Given the description of an element on the screen output the (x, y) to click on. 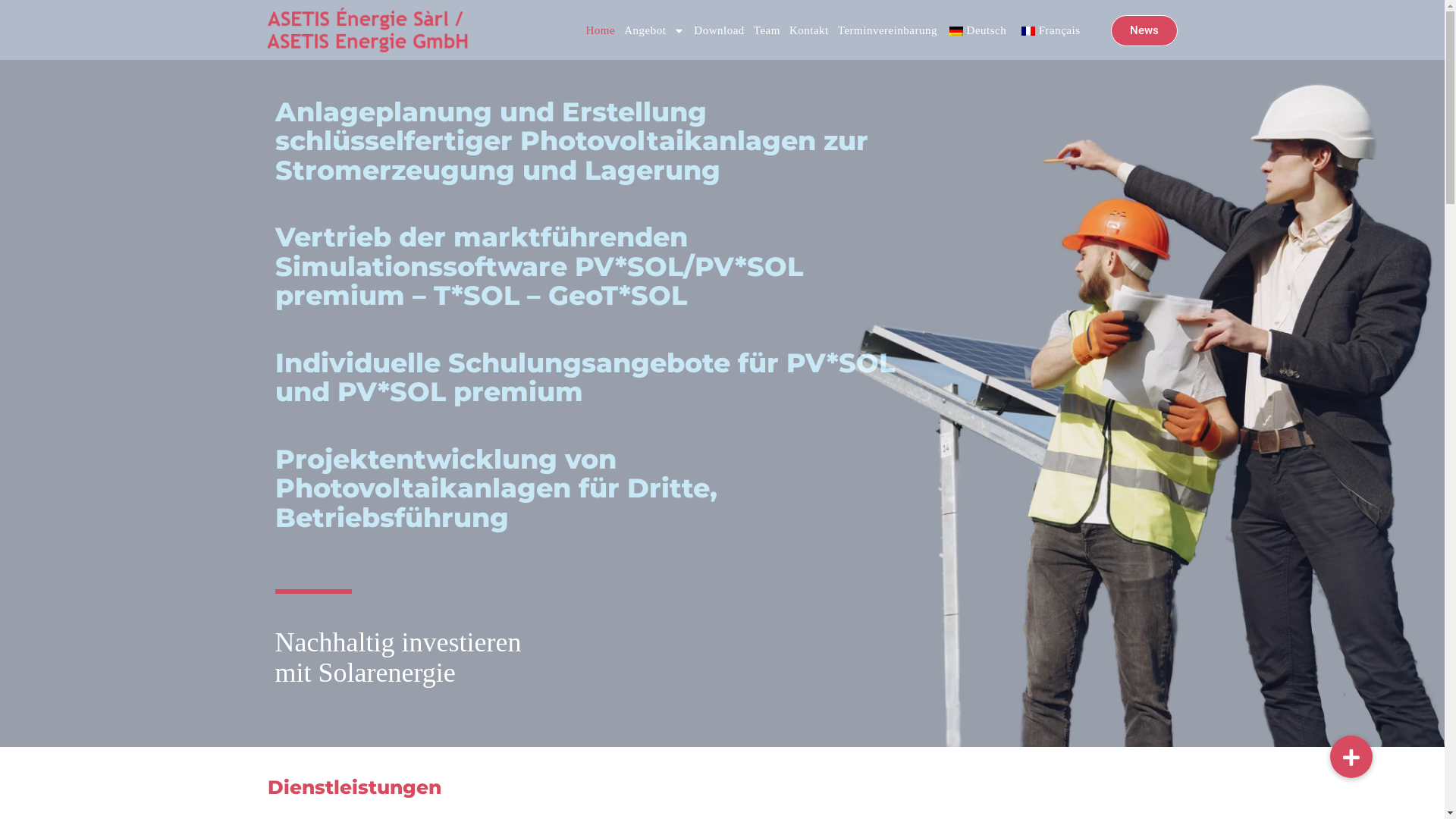
Kontakt Element type: text (808, 30)
Deutsch Element type: text (977, 30)
Team Element type: text (766, 30)
Download Element type: text (719, 30)
News Element type: text (1143, 30)
Angebot Element type: text (654, 30)
Terminvereinbarung Element type: text (887, 30)
Home Element type: text (599, 30)
